Given the description of an element on the screen output the (x, y) to click on. 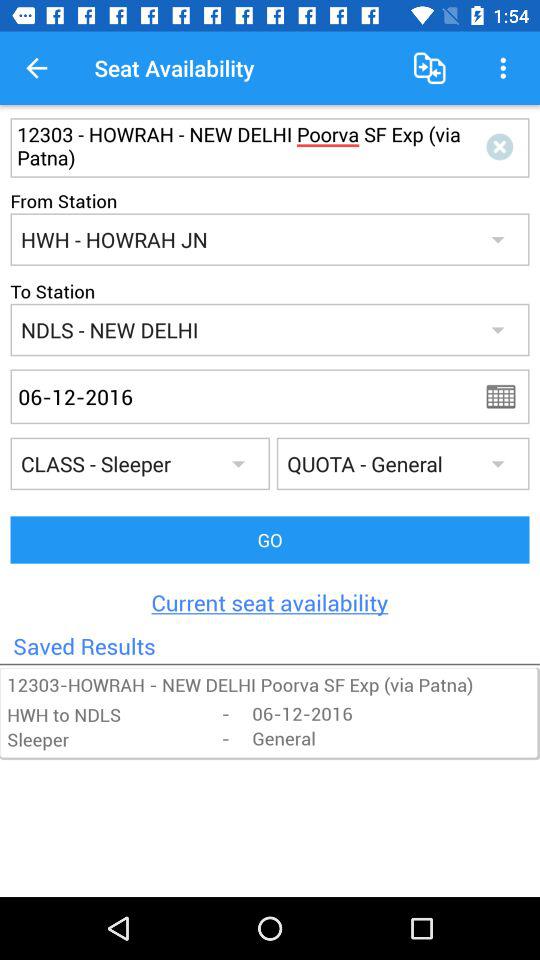
click on go above current seat availability (269, 539)
